Given the description of an element on the screen output the (x, y) to click on. 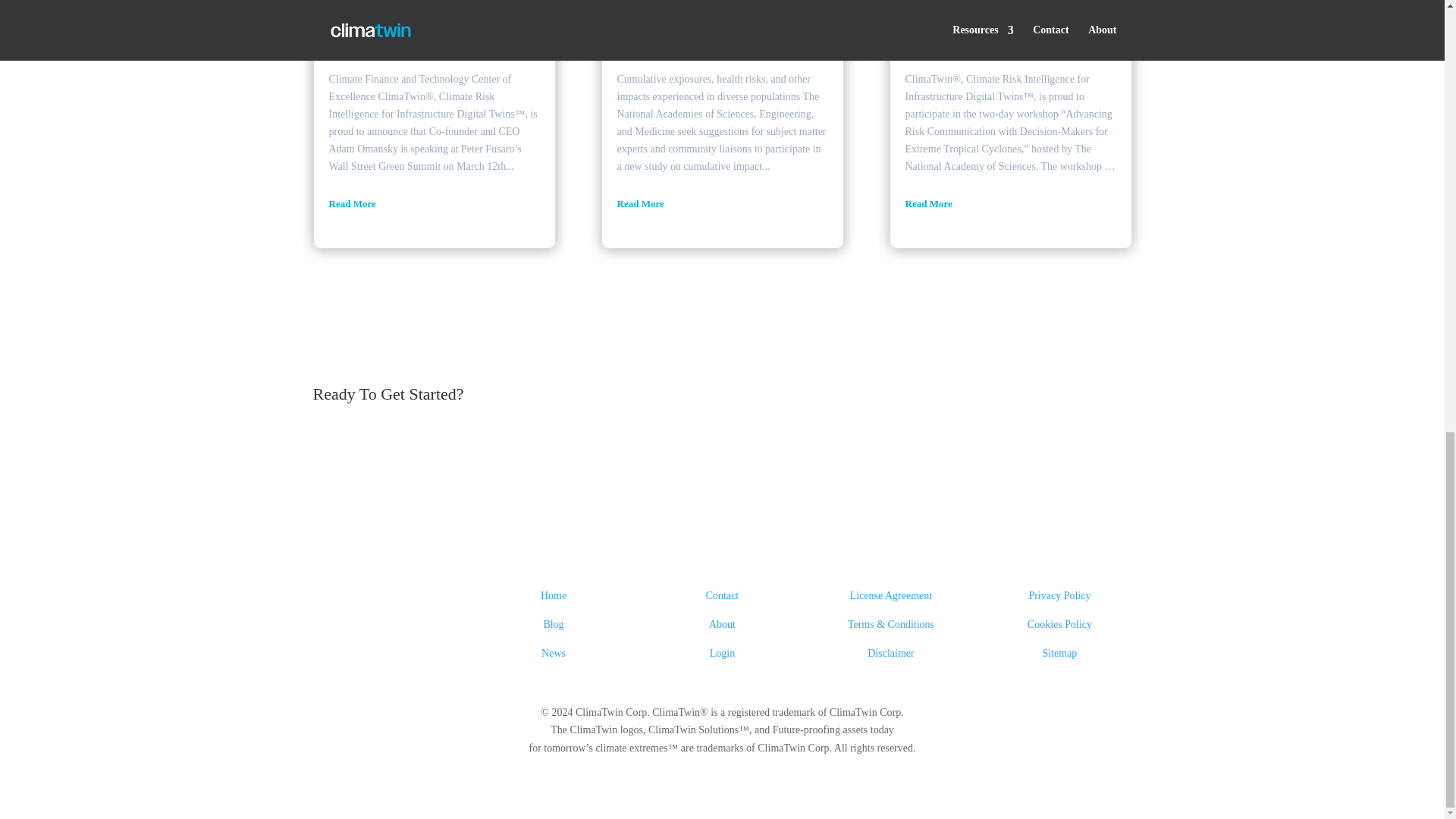
Login (722, 653)
Read More (434, 203)
Read More (722, 203)
News (553, 653)
Advancing Risk Communication for Extreme Tropical Cyclones (1000, 20)
Contact (722, 595)
Privacy Policy (1058, 595)
About (722, 624)
Disclaimer (890, 653)
Blog (553, 624)
